Given the description of an element on the screen output the (x, y) to click on. 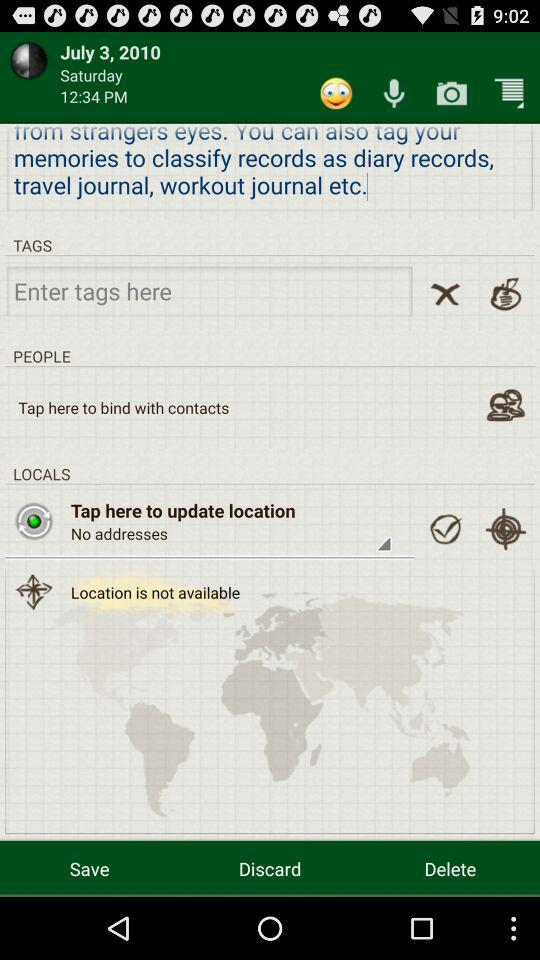
add contacts (505, 404)
